Given the description of an element on the screen output the (x, y) to click on. 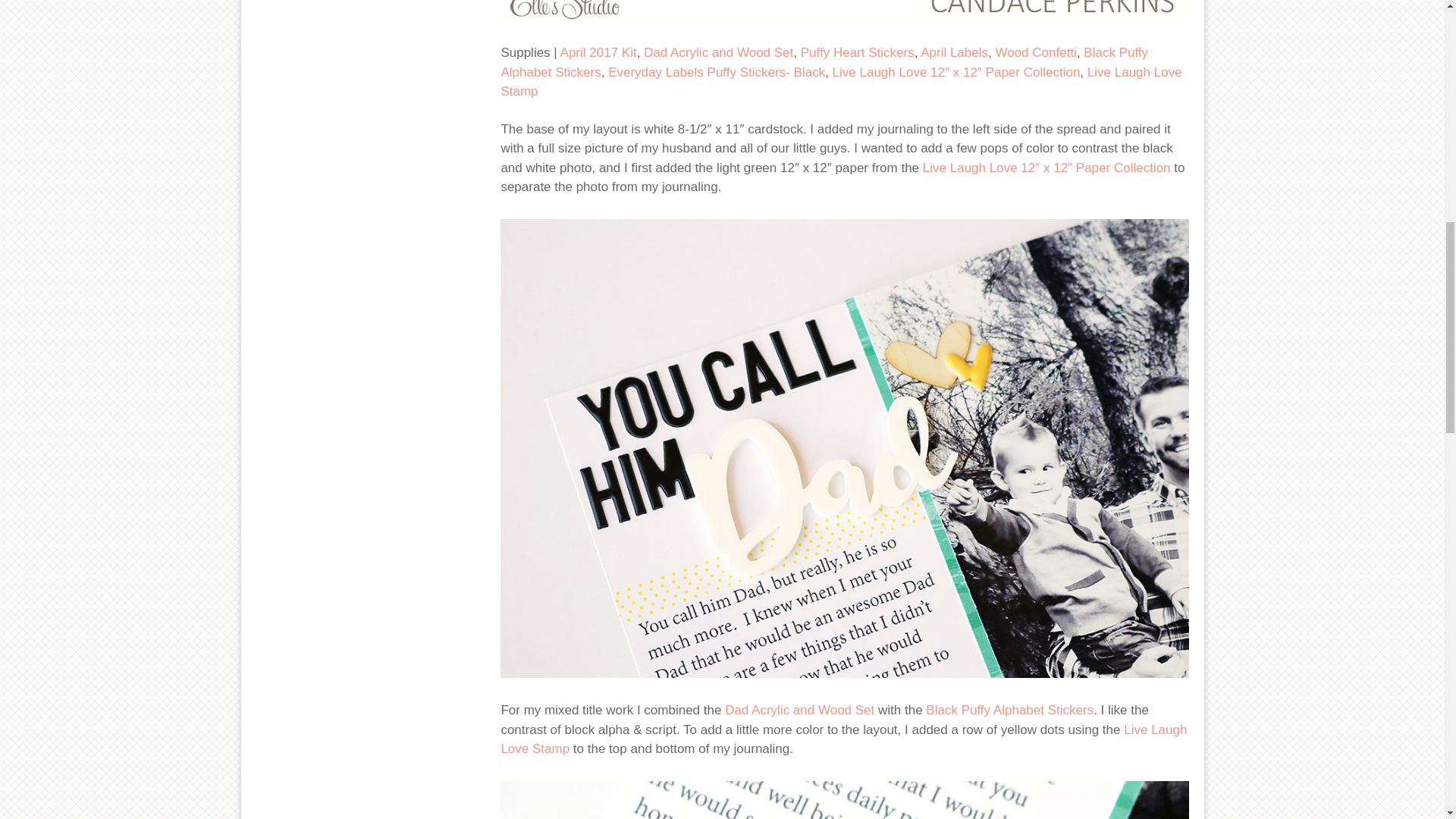
Dad Acrylic and Wood Set (800, 709)
Puffy Heart Stickers (857, 52)
Black Puffy Alphabet Stickers (1009, 709)
Wood Confetti (1034, 52)
Dad Acrylic and Wood Set (718, 52)
Everyday Labels Puffy Stickers- Black (716, 72)
Black Puffy Alphabet Stickers (824, 62)
Live Laugh Love Stamp (843, 739)
April 2017 Kit (598, 52)
Live Laugh Love Stamp (840, 82)
April Labels (954, 52)
